Given the description of an element on the screen output the (x, y) to click on. 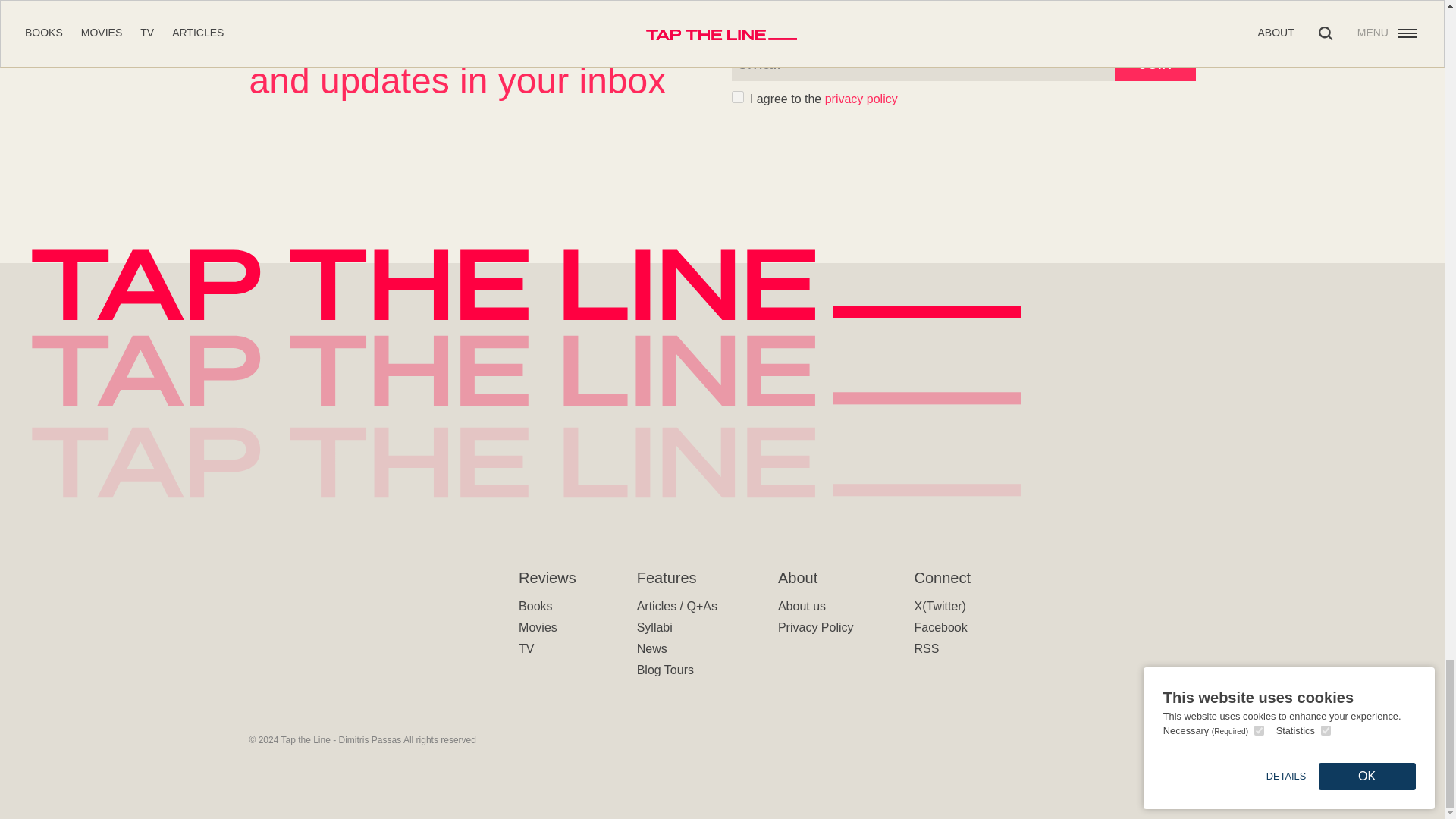
About us (801, 605)
Syllabi (654, 626)
Books (534, 605)
privacy policy (861, 98)
News (651, 648)
Privacy Policy (815, 626)
on (736, 96)
Movies (537, 626)
Join (1155, 63)
Blog Tours (665, 669)
